Given the description of an element on the screen output the (x, y) to click on. 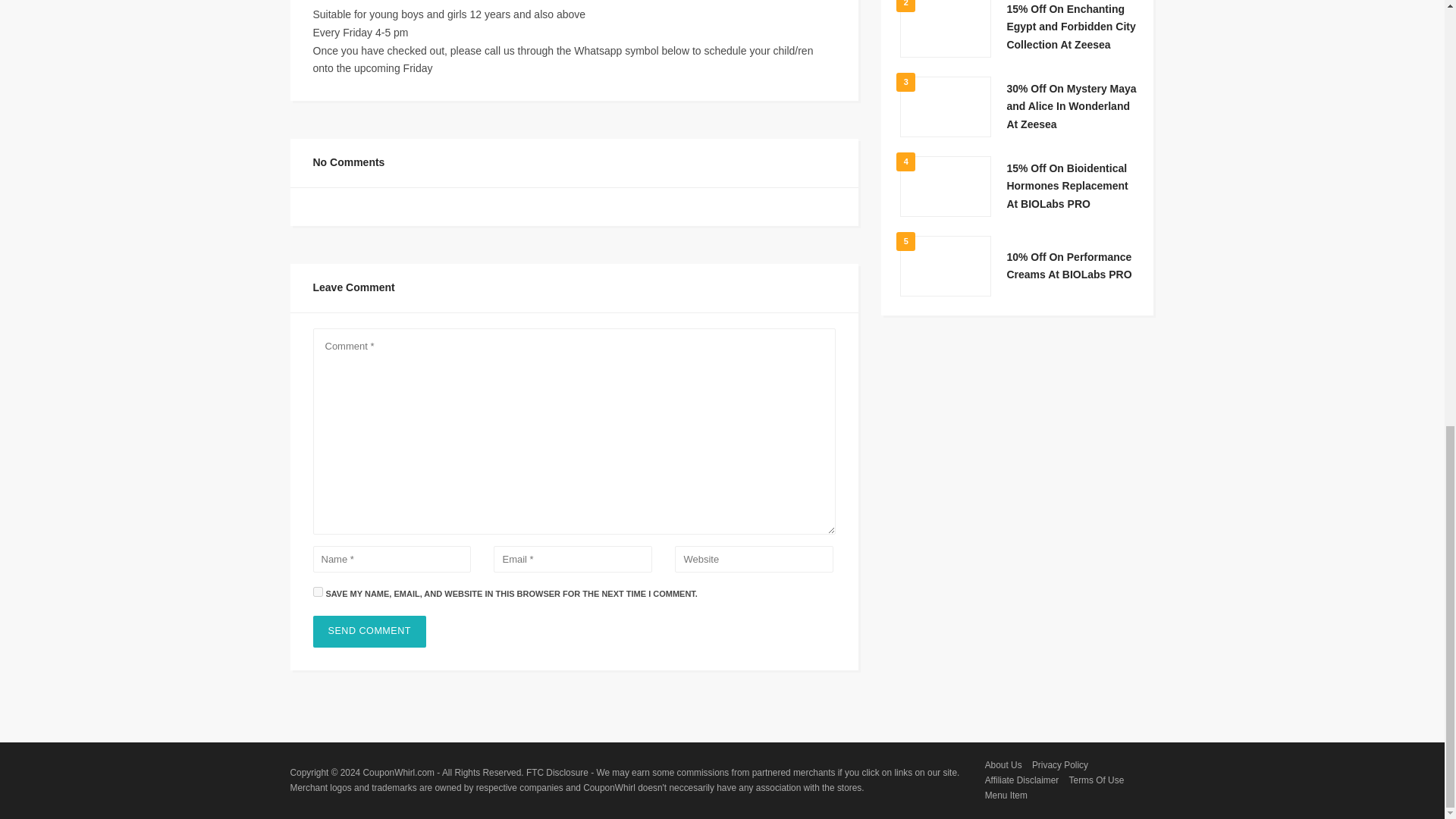
Send Comment (369, 631)
About Us (1003, 765)
Privacy Policy (1059, 765)
Affiliate Disclaimer (1022, 779)
Send Comment (369, 631)
Privacy Policy (1059, 765)
Menu Item (1006, 795)
Terms Of Use (1096, 779)
Affiliate Disclaimer (1022, 779)
Terms Of Use (1096, 779)
yes (317, 592)
Menu Item (1006, 795)
About Us (1003, 765)
